Given the description of an element on the screen output the (x, y) to click on. 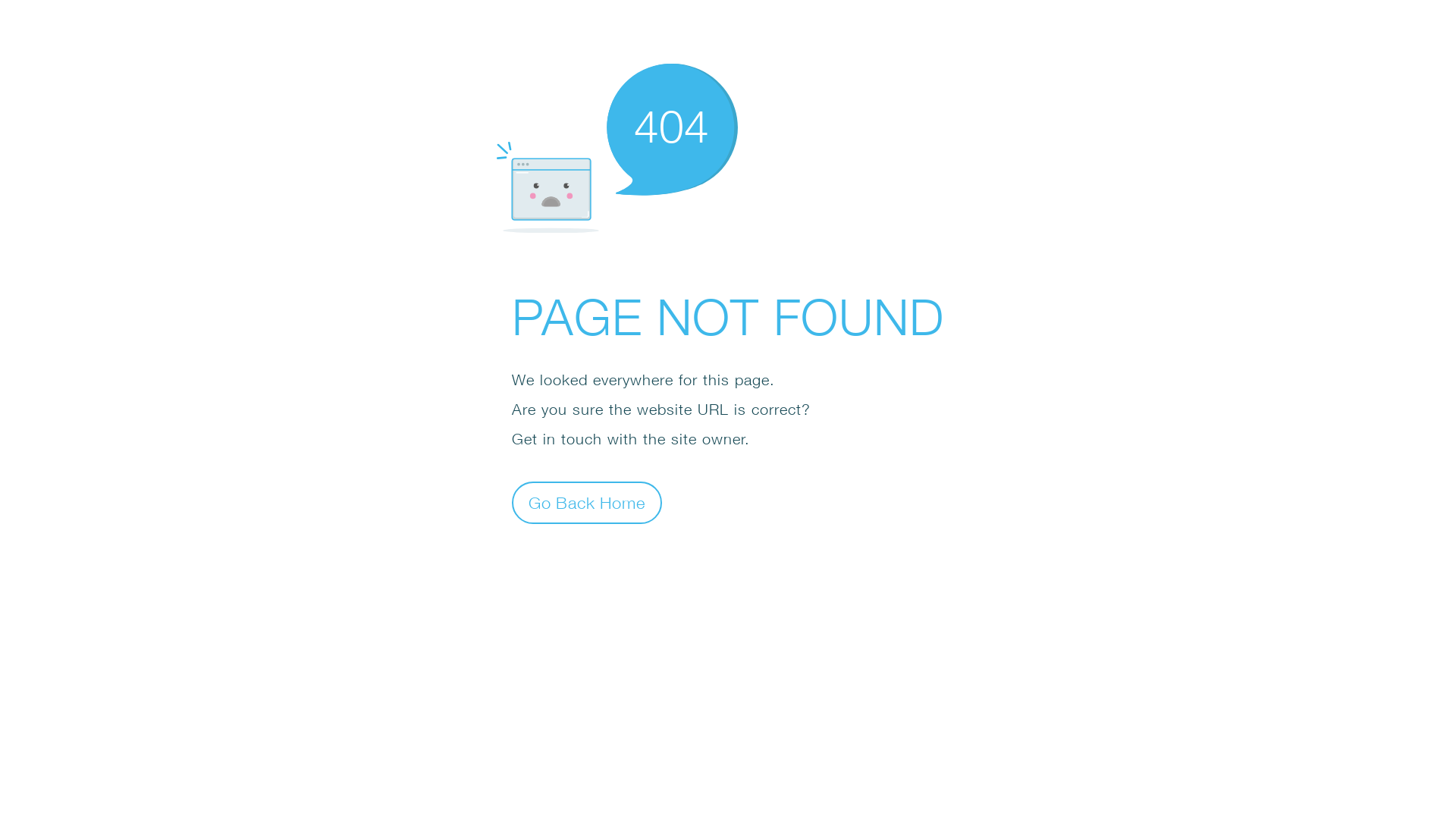
Go Back Home Element type: text (586, 502)
